Given the description of an element on the screen output the (x, y) to click on. 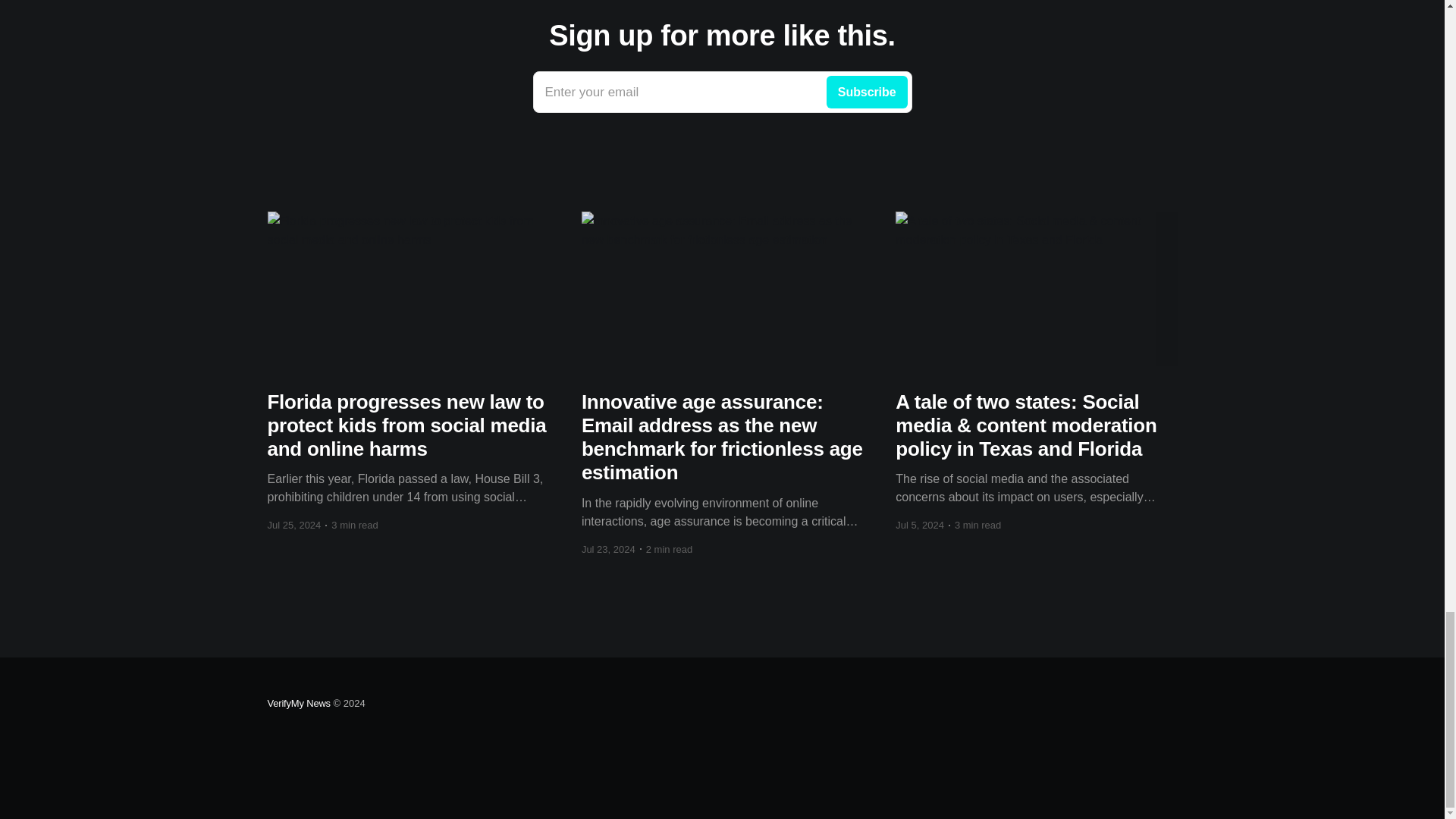
VerifyMy News (298, 703)
